Given the description of an element on the screen output the (x, y) to click on. 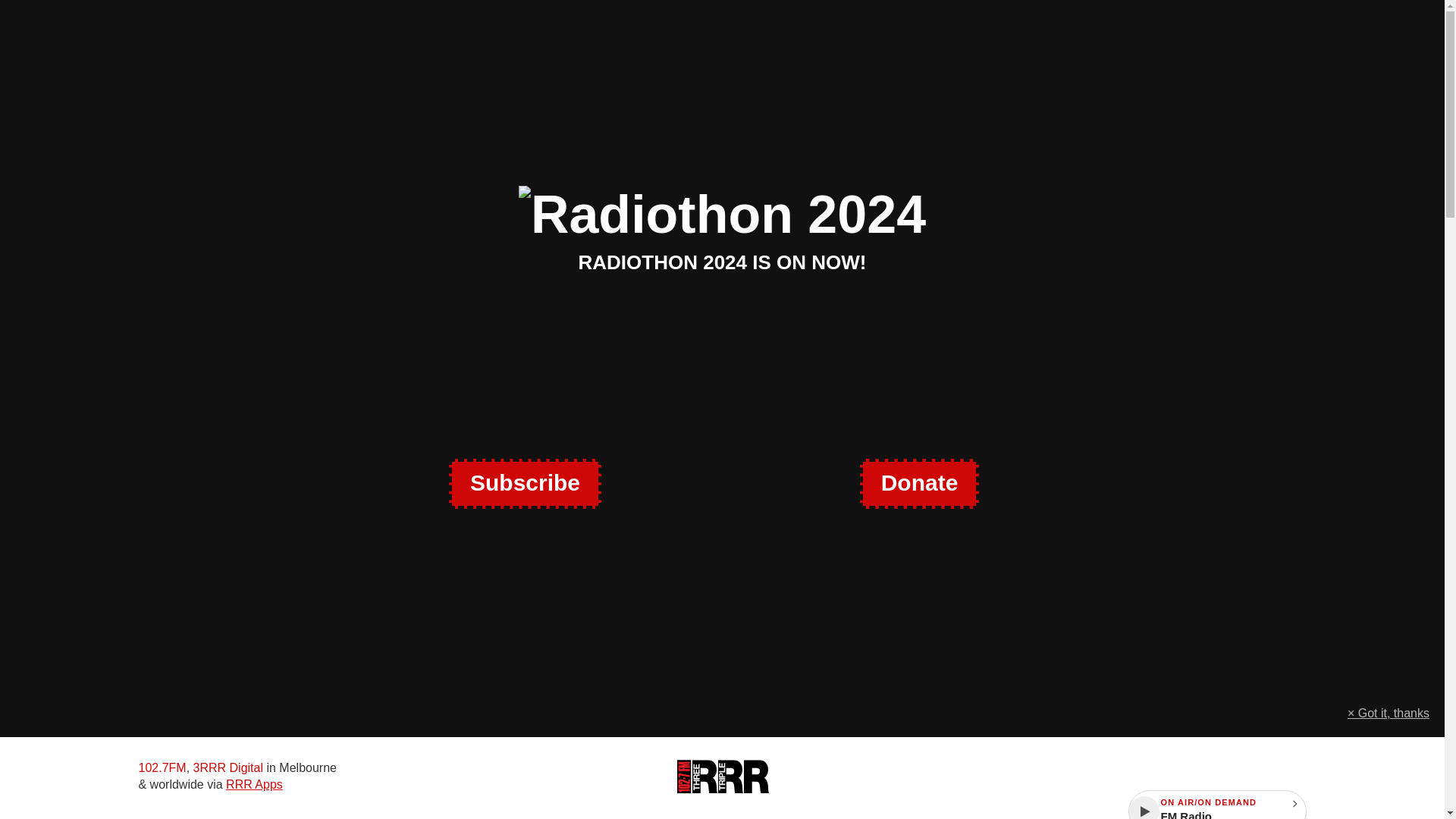
Donate (919, 483)
Subscribe (524, 483)
Triple R logo (722, 776)
RRR Apps (253, 784)
